Given the description of an element on the screen output the (x, y) to click on. 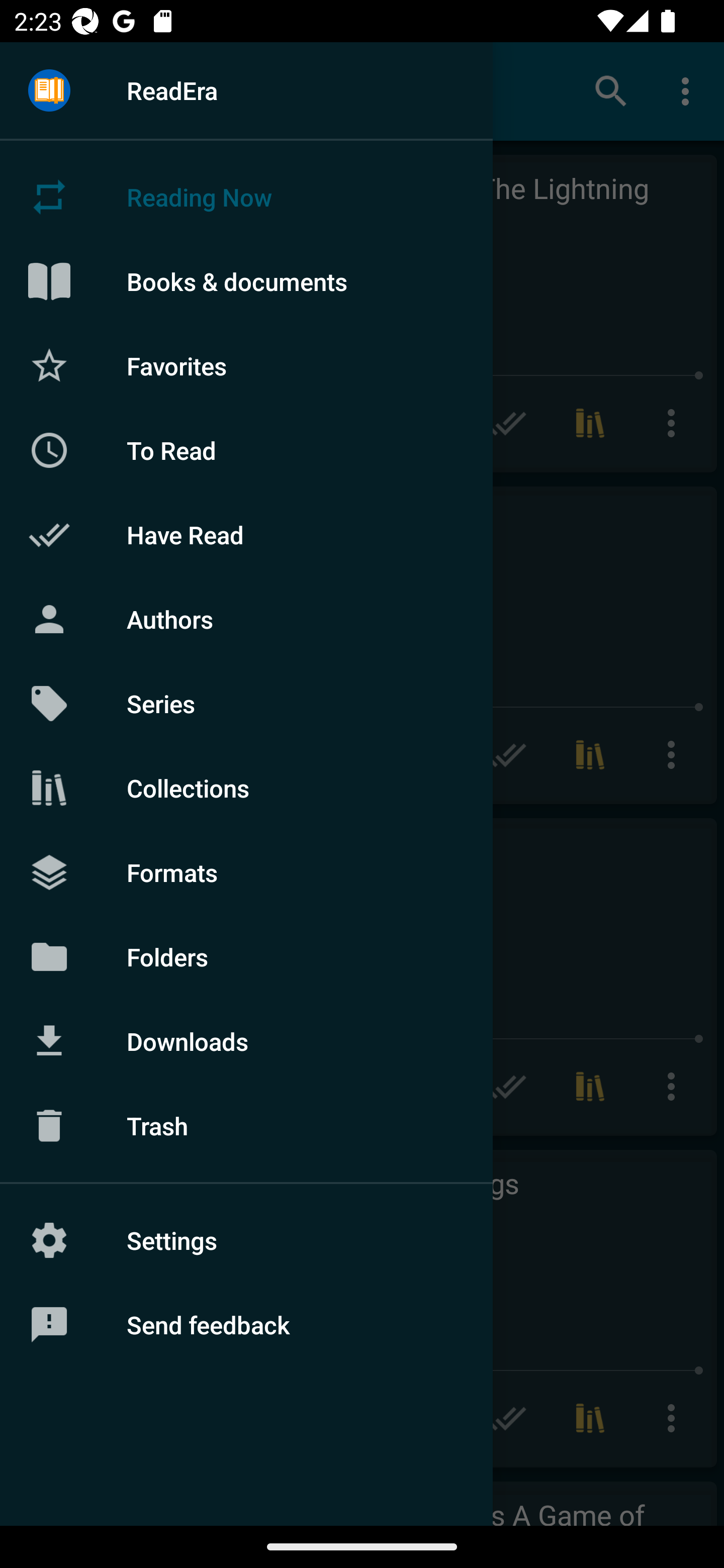
Menu (49, 91)
ReadEra (246, 89)
Search books & documents (611, 90)
More options (688, 90)
Reading Now (246, 197)
Books & documents (246, 281)
Favorites (246, 365)
To Read (246, 449)
Have Read (246, 534)
Authors (246, 619)
Series (246, 703)
Collections (246, 787)
Formats (246, 871)
Folders (246, 956)
Downloads (246, 1040)
Trash (246, 1125)
Settings (246, 1239)
Send feedback (246, 1324)
